Given the description of an element on the screen output the (x, y) to click on. 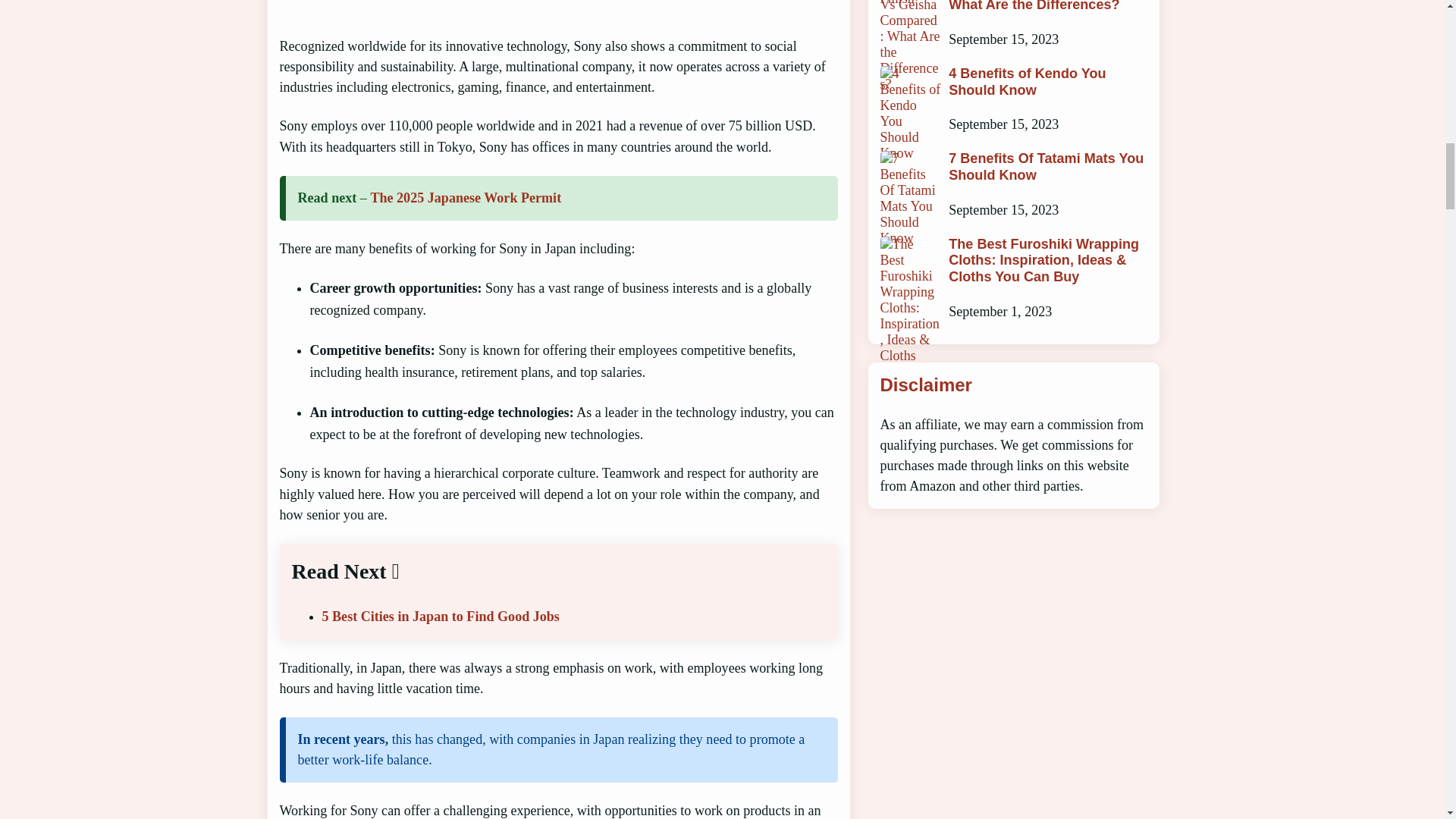
Embedded post (548, 5)
